Given the description of an element on the screen output the (x, y) to click on. 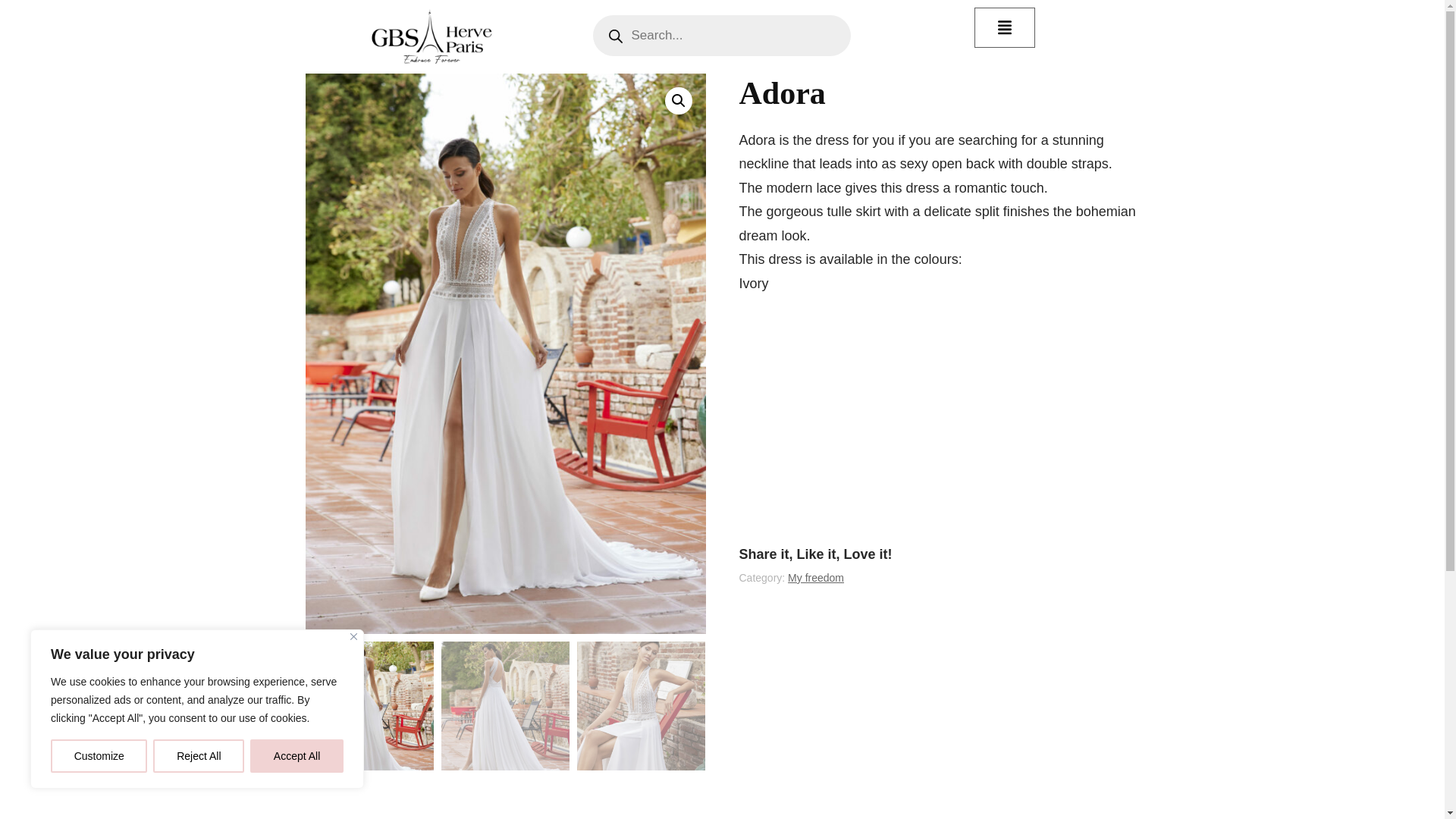
Accept All (296, 756)
My freedom (815, 577)
Customize (98, 756)
YouTube video player (938, 414)
Reject All (198, 756)
